Given the description of an element on the screen output the (x, y) to click on. 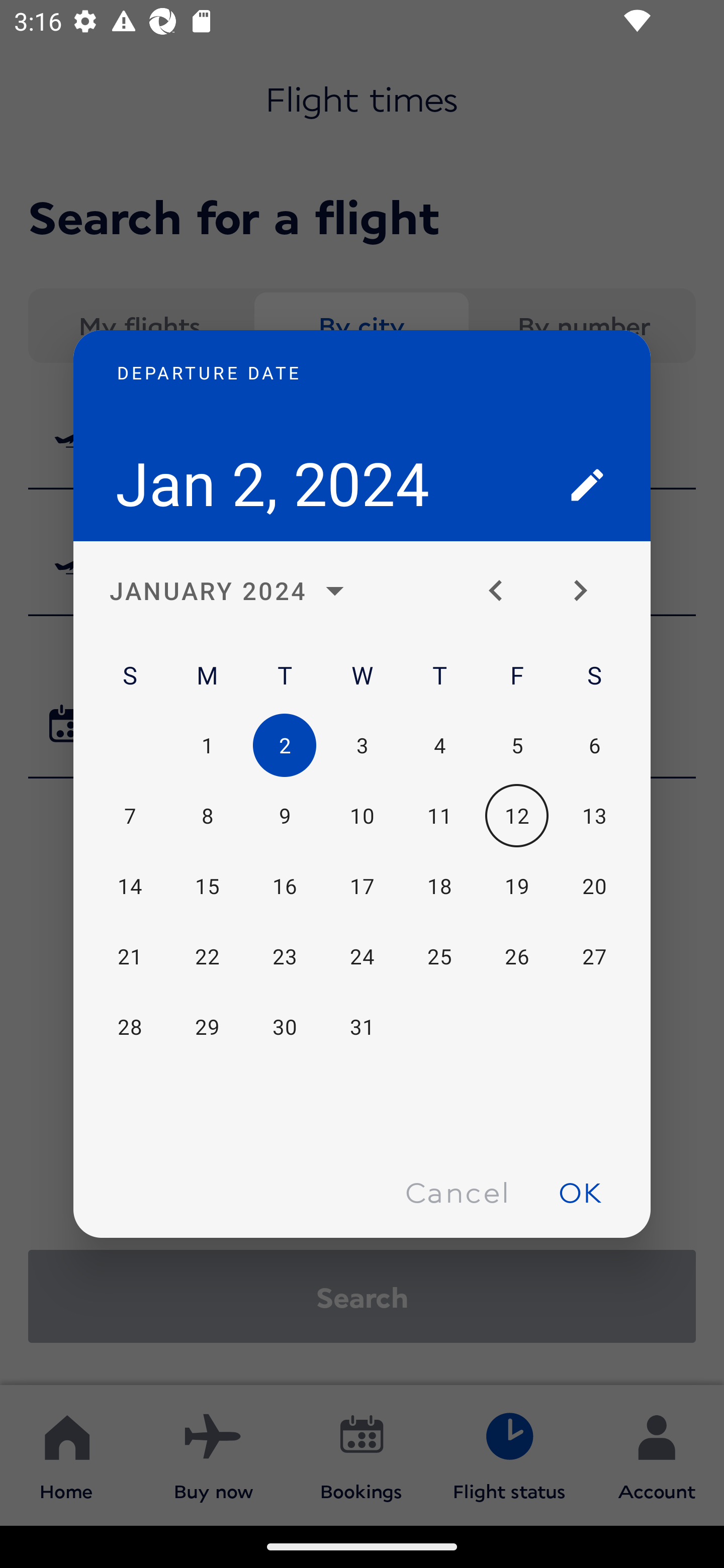
Switch to text input mode (587, 484)
JANUARY 2024 (231, 590)
Change to previous month (502, 590)
Change to next month (587, 590)
1 Mon, Jan 1 (207, 745)
2 Tue, Jan 2 (284, 745)
3 Wed, Jan 3 (361, 745)
4 Thu, Jan 4 (438, 745)
5 Fri, Jan 5 (516, 745)
6 Sat, Jan 6 (593, 745)
7 Sun, Jan 7 (129, 815)
8 Mon, Jan 8 (207, 815)
9 Tue, Jan 9 (284, 815)
10 Wed, Jan 10 (361, 815)
11 Thu, Jan 11 (438, 815)
12 Today Fri, Jan 12 (516, 815)
13 Sat, Jan 13 (593, 815)
14 Sun, Jan 14 (129, 886)
15 Mon, Jan 15 (207, 886)
16 Tue, Jan 16 (284, 886)
17 Wed, Jan 17 (361, 886)
18 Thu, Jan 18 (438, 886)
19 Fri, Jan 19 (516, 886)
20 Sat, Jan 20 (593, 886)
21 Sun, Jan 21 (129, 955)
22 Mon, Jan 22 (207, 955)
23 Tue, Jan 23 (284, 955)
24 Wed, Jan 24 (361, 955)
25 Thu, Jan 25 (438, 955)
26 Fri, Jan 26 (516, 955)
27 Sat, Jan 27 (593, 955)
28 Sun, Jan 28 (129, 1025)
29 Mon, Jan 29 (207, 1025)
30 Tue, Jan 30 (284, 1025)
31 Wed, Jan 31 (361, 1025)
Cancel (456, 1191)
OK null, OK (580, 1191)
